Given the description of an element on the screen output the (x, y) to click on. 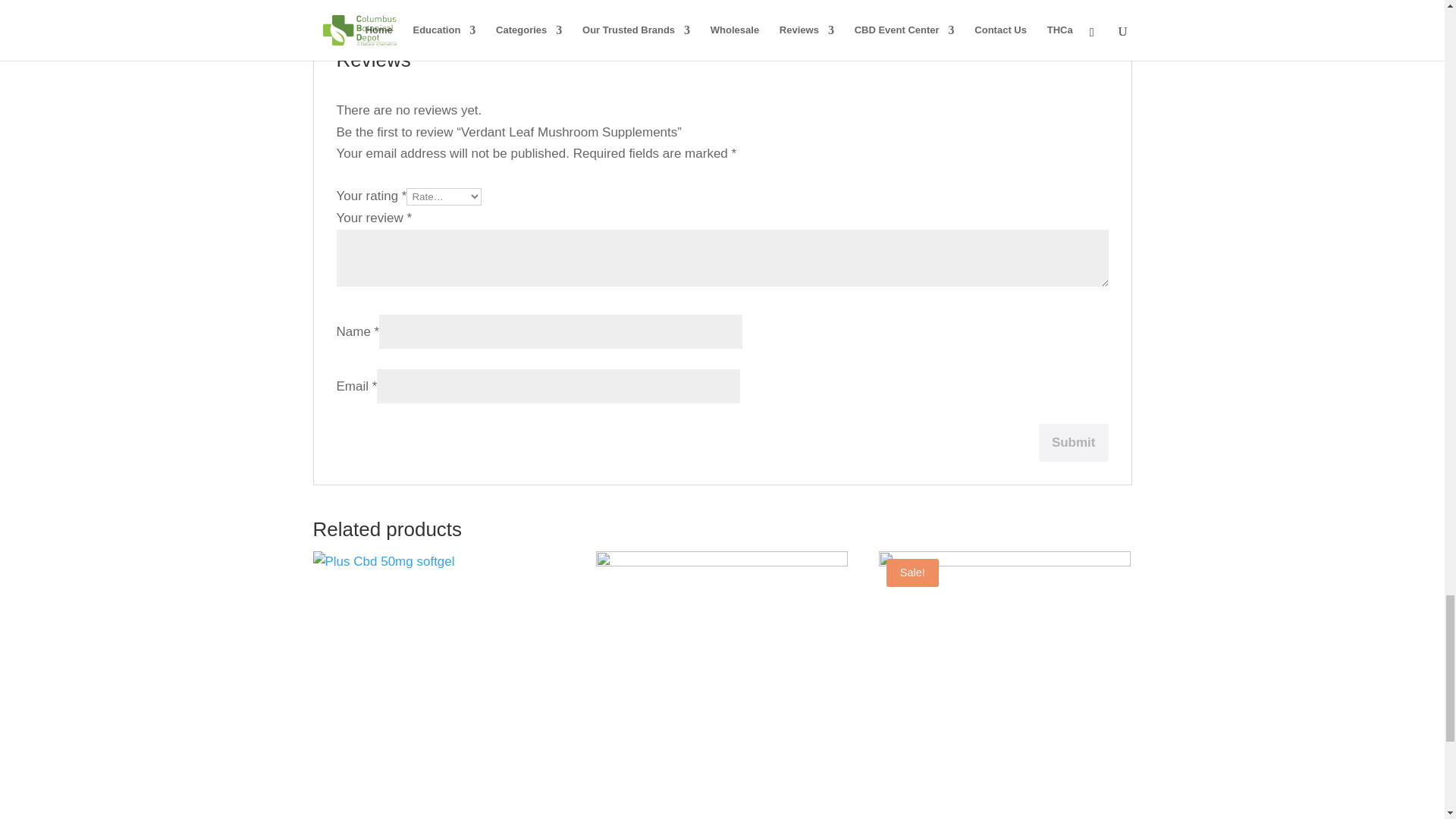
Submit (1073, 442)
